Given the description of an element on the screen output the (x, y) to click on. 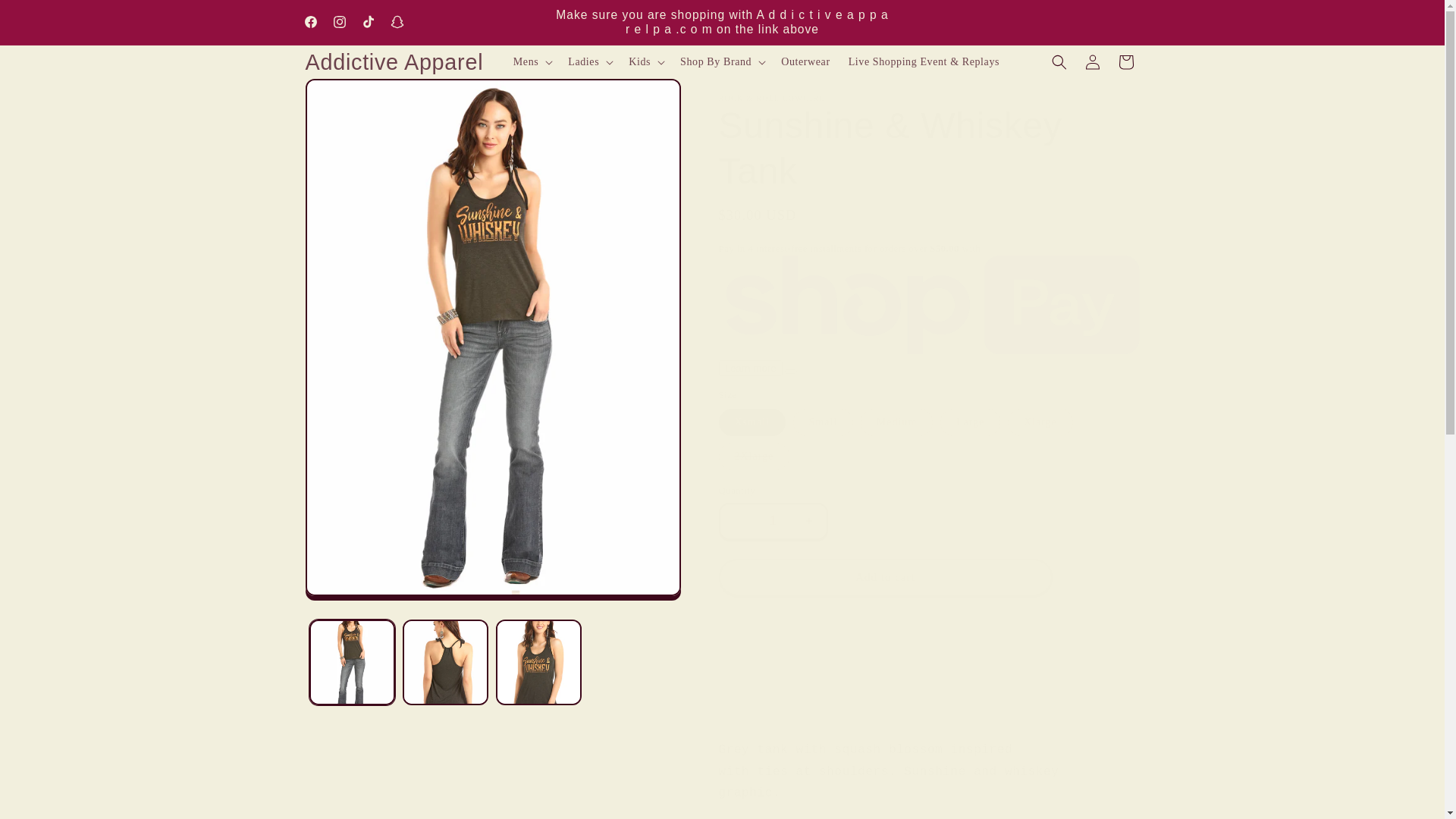
Snapchat (395, 21)
TikTok (367, 21)
Instagram (338, 21)
Skip to content (46, 18)
Facebook (309, 21)
1 (773, 520)
